Given the description of an element on the screen output the (x, y) to click on. 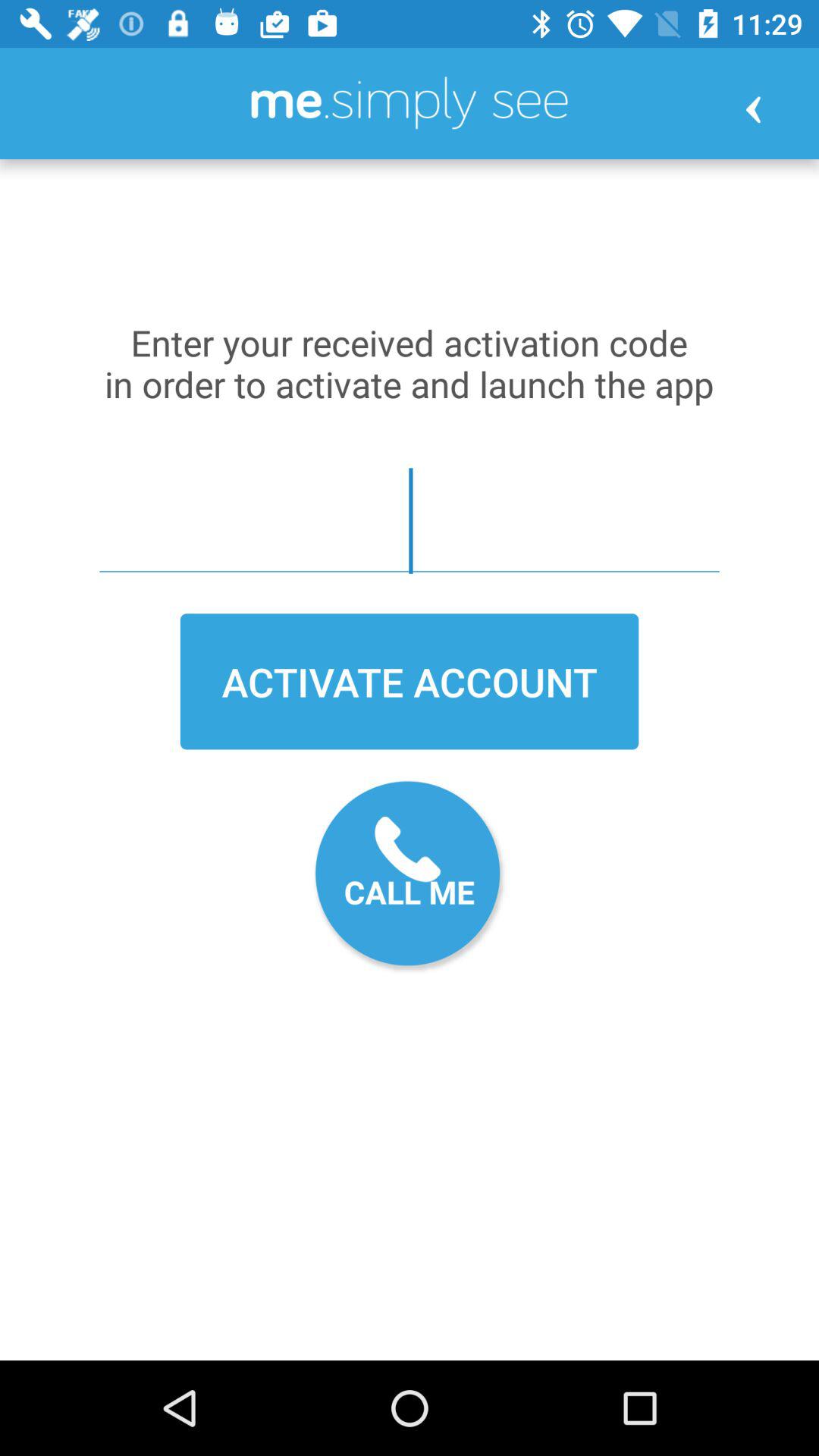
open item above enter your received (753, 109)
